Given the description of an element on the screen output the (x, y) to click on. 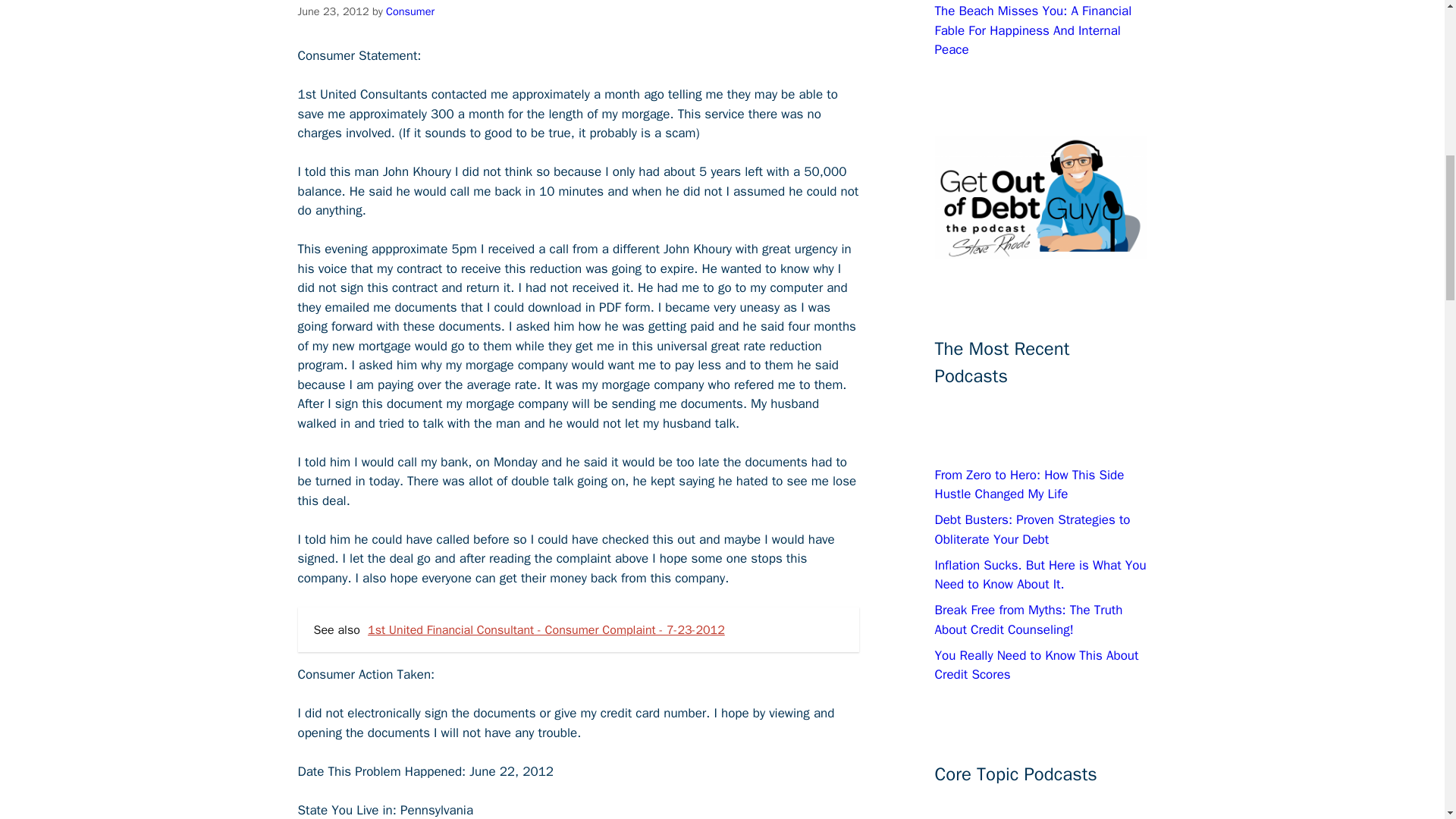
Consumer (409, 11)
View all posts by Consumer (409, 11)
